Given the description of an element on the screen output the (x, y) to click on. 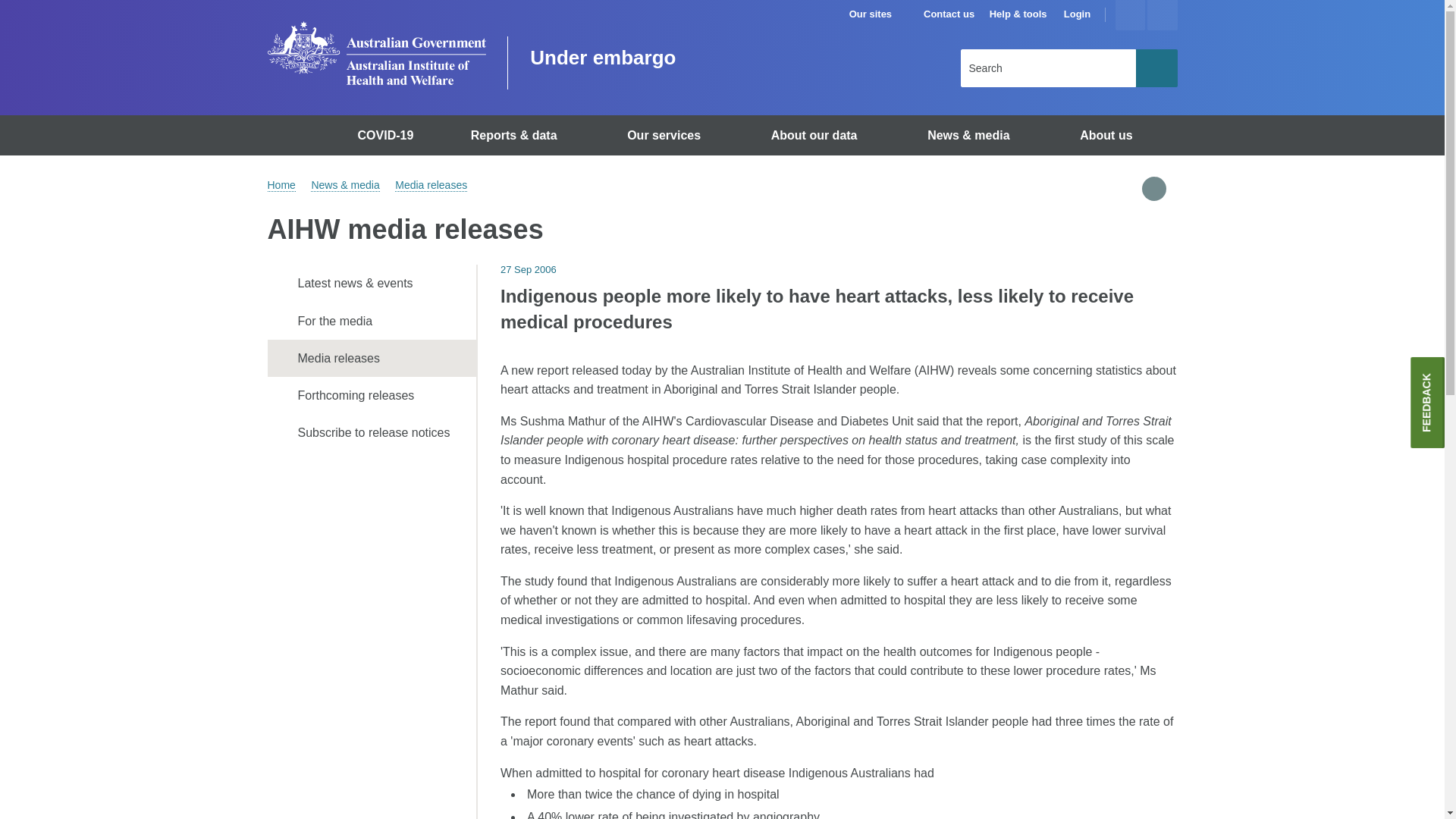
COVID-19 (388, 135)
Australian Institute of Health and Welfare (375, 53)
Our sites (877, 14)
Increase text size (1130, 15)
Contact us (948, 14)
Search (1156, 67)
Login (1077, 14)
Decrease text size (1162, 15)
